Given the description of an element on the screen output the (x, y) to click on. 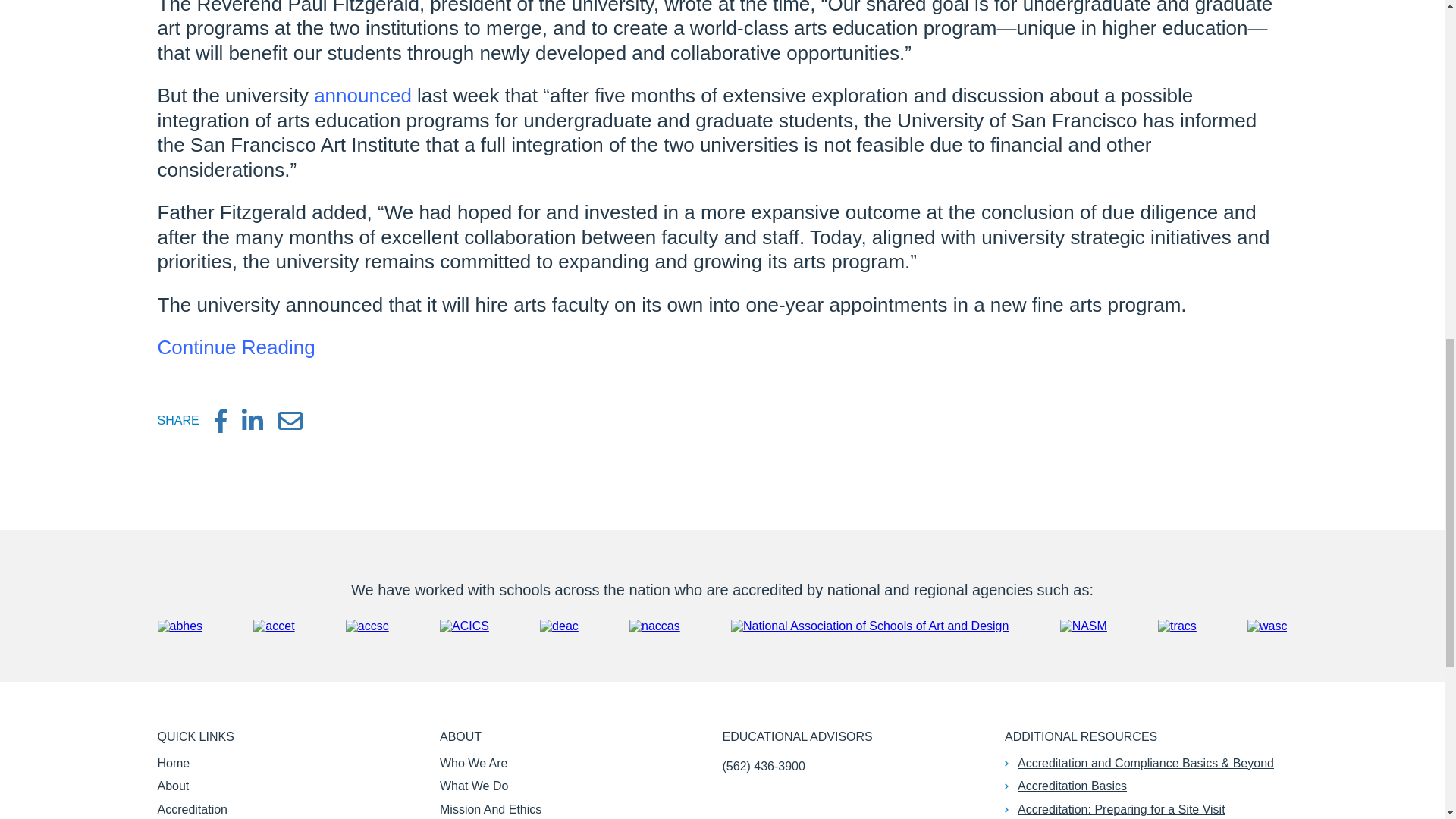
announced (363, 95)
deac (559, 626)
naccas (653, 626)
Continue Reading (236, 346)
accet (273, 626)
abhes (180, 626)
National Association of Schools of Art and Design (869, 626)
ACICS (464, 626)
tracs (1176, 626)
wasc (1267, 626)
accsc (367, 626)
